Given the description of an element on the screen output the (x, y) to click on. 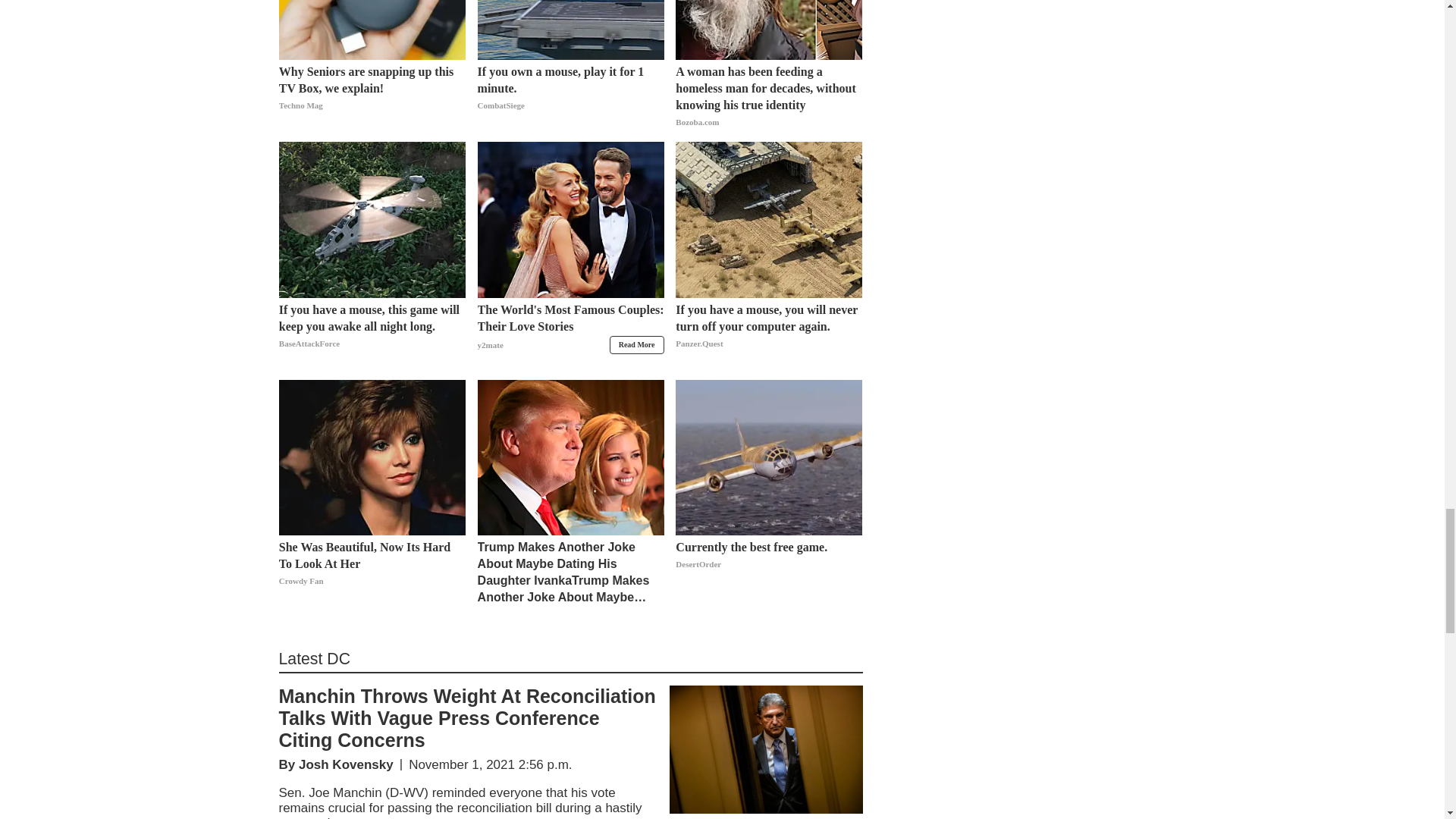
Why Seniors are snapping up this TV Box, we explain! (372, 96)
She Was Beautiful, Now Its Hard To Look At Her (372, 572)
If you own a mouse, play it for 1 minute. (570, 96)
The World's Most Famous Couples: Their Love Stories (570, 335)
